Given the description of an element on the screen output the (x, y) to click on. 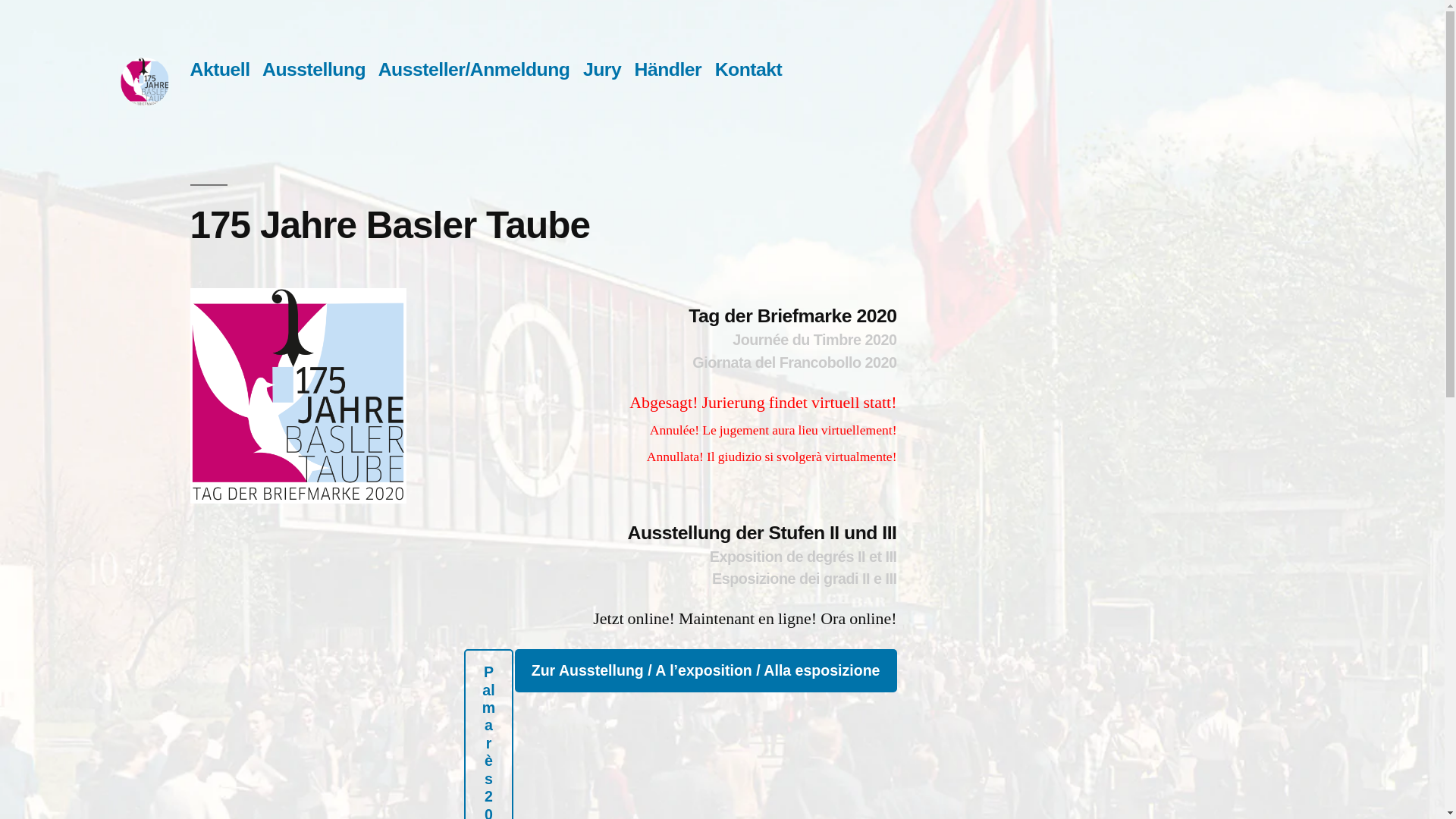
Jury Element type: text (602, 69)
Aussteller/Anmeldung Element type: text (474, 69)
Kontakt Element type: text (748, 69)
Aktuell Element type: text (219, 69)
Ausstellung Element type: text (313, 69)
